Given the description of an element on the screen output the (x, y) to click on. 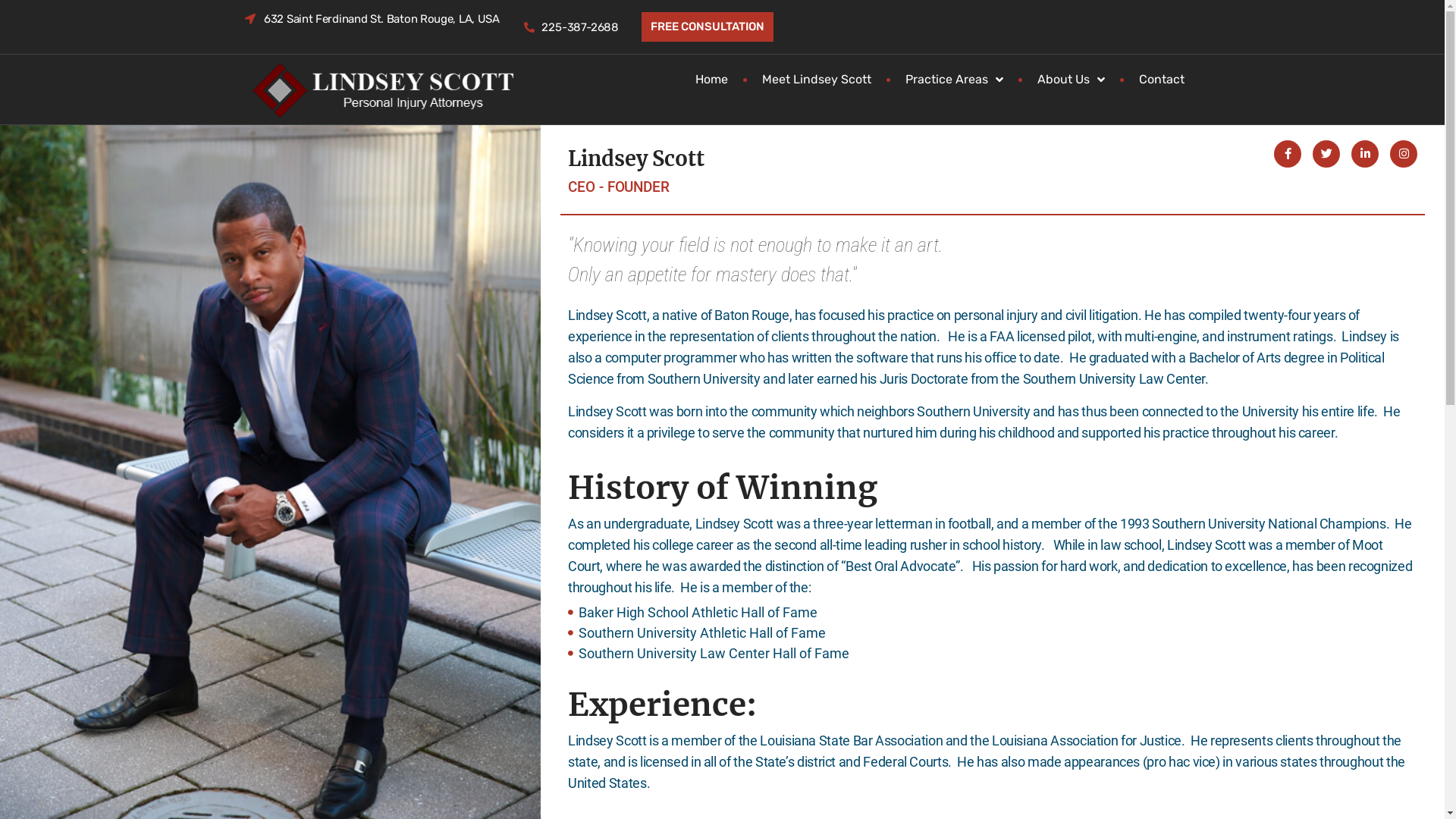
FREE CONSULTATION Element type: text (707, 26)
Contact Element type: text (1161, 79)
Home Element type: text (711, 79)
About Us Element type: text (1071, 79)
Meet Lindsey Scott Element type: text (816, 79)
225-387-2688 Element type: text (570, 26)
Practice Areas Element type: text (954, 79)
